Given the description of an element on the screen output the (x, y) to click on. 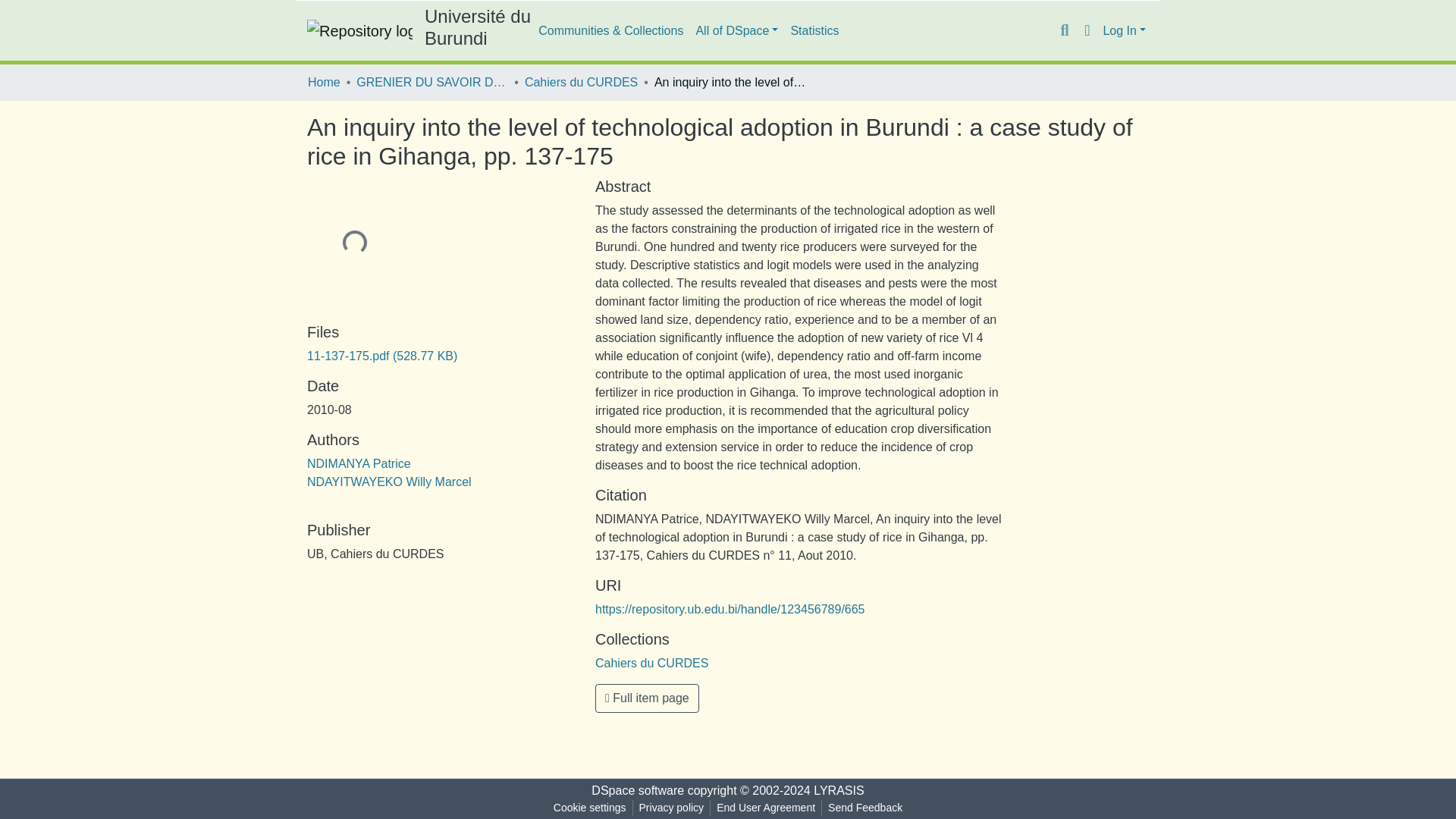
Cookie settings (589, 807)
Cahiers du CURDES (651, 662)
Language switch (1086, 30)
Send Feedback (865, 807)
LYRASIS (838, 789)
Full item page (646, 697)
End User Agreement (765, 807)
Cahiers du CURDES (580, 82)
Search (1064, 30)
All of DSpace (736, 30)
Statistics (814, 30)
GRENIER DU SAVOIR DU BURUNDI (432, 82)
Statistics (814, 30)
Log In (1123, 30)
DSpace software (637, 789)
